Given the description of an element on the screen output the (x, y) to click on. 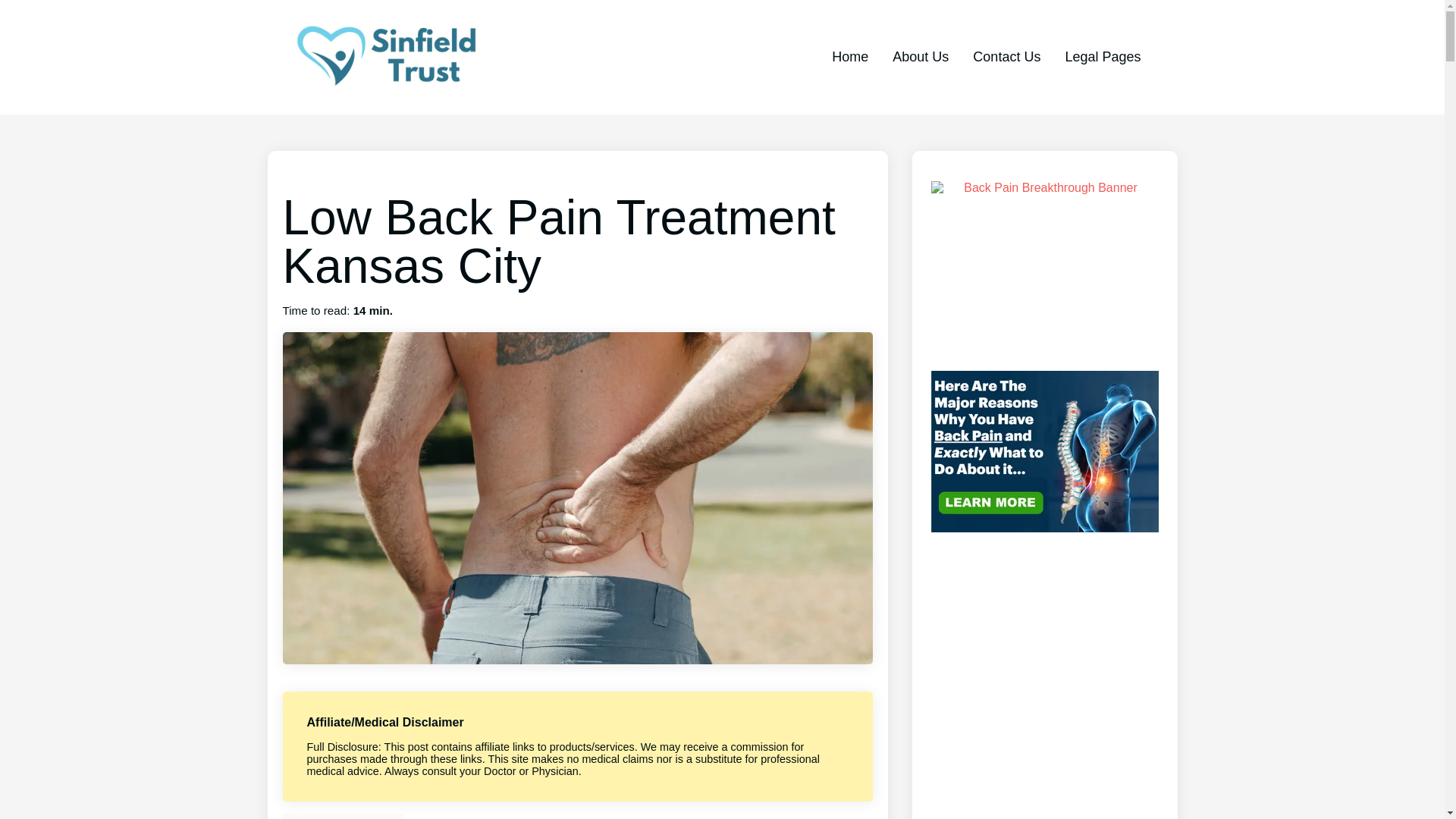
Home (849, 56)
Legal Pages (1102, 56)
About Us (920, 56)
Contact Us (1006, 56)
